Given the description of an element on the screen output the (x, y) to click on. 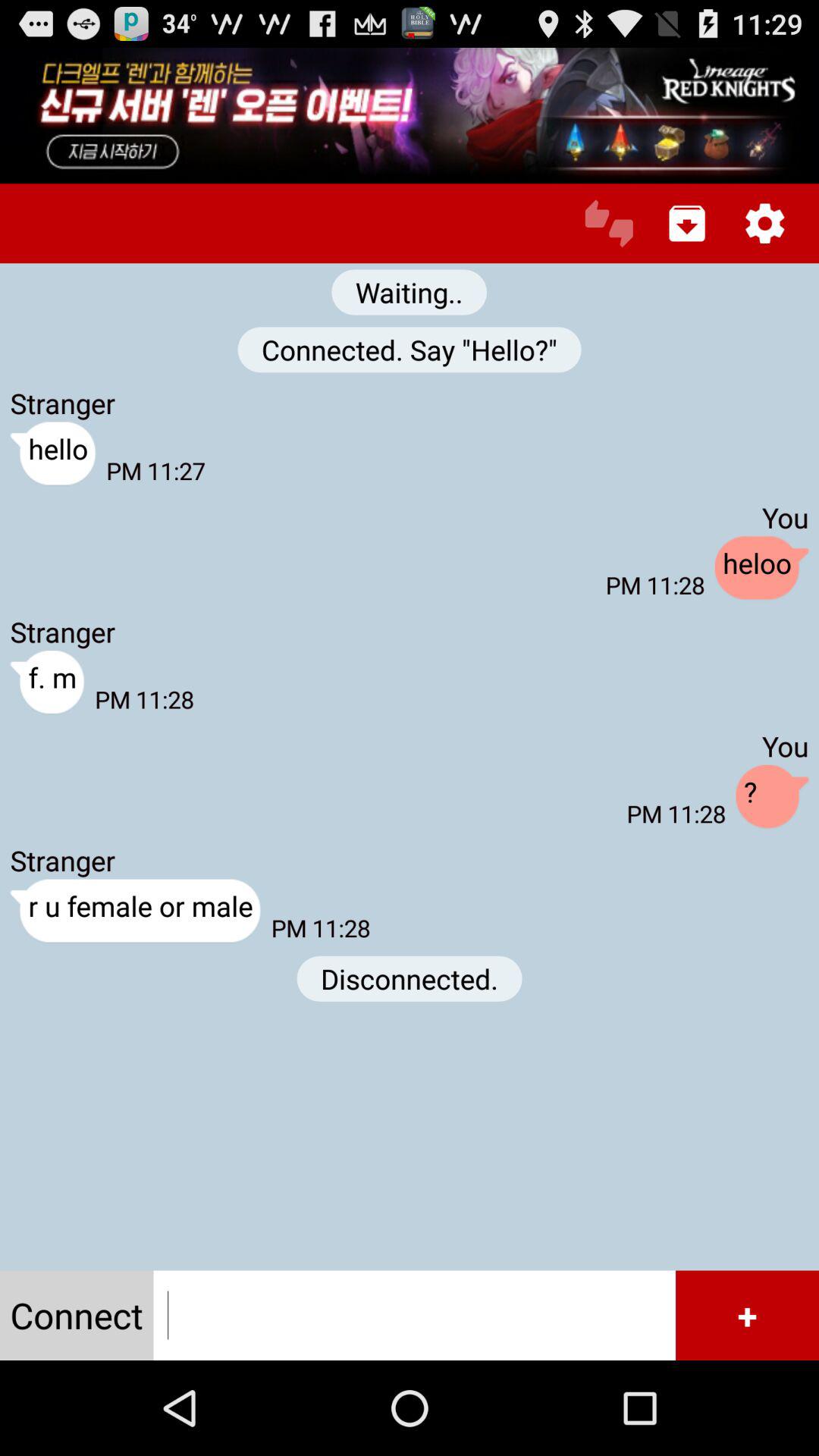
press the app to the right of r u female (409, 978)
